Given the description of an element on the screen output the (x, y) to click on. 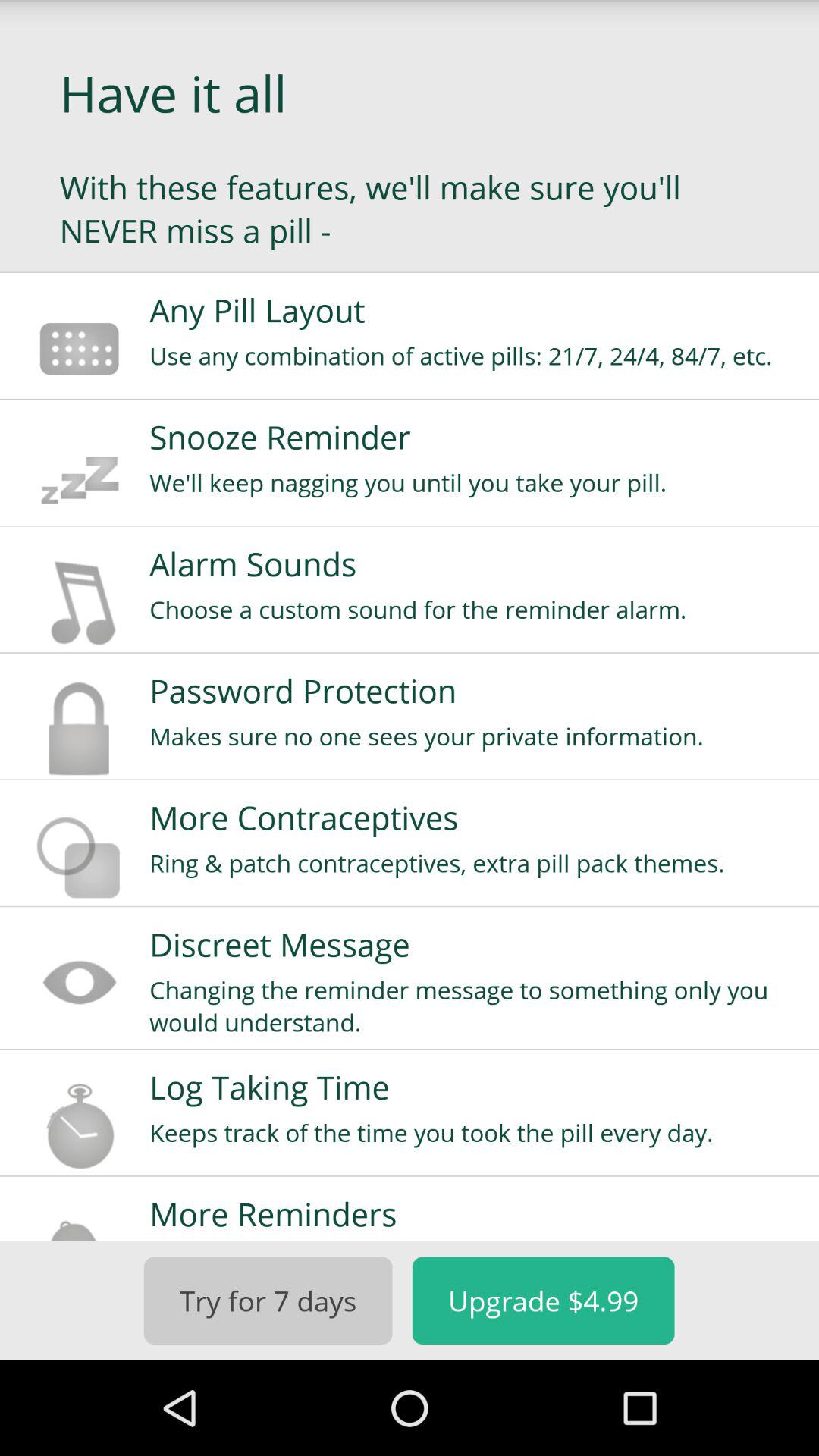
open the try for 7 button (267, 1300)
